Given the description of an element on the screen output the (x, y) to click on. 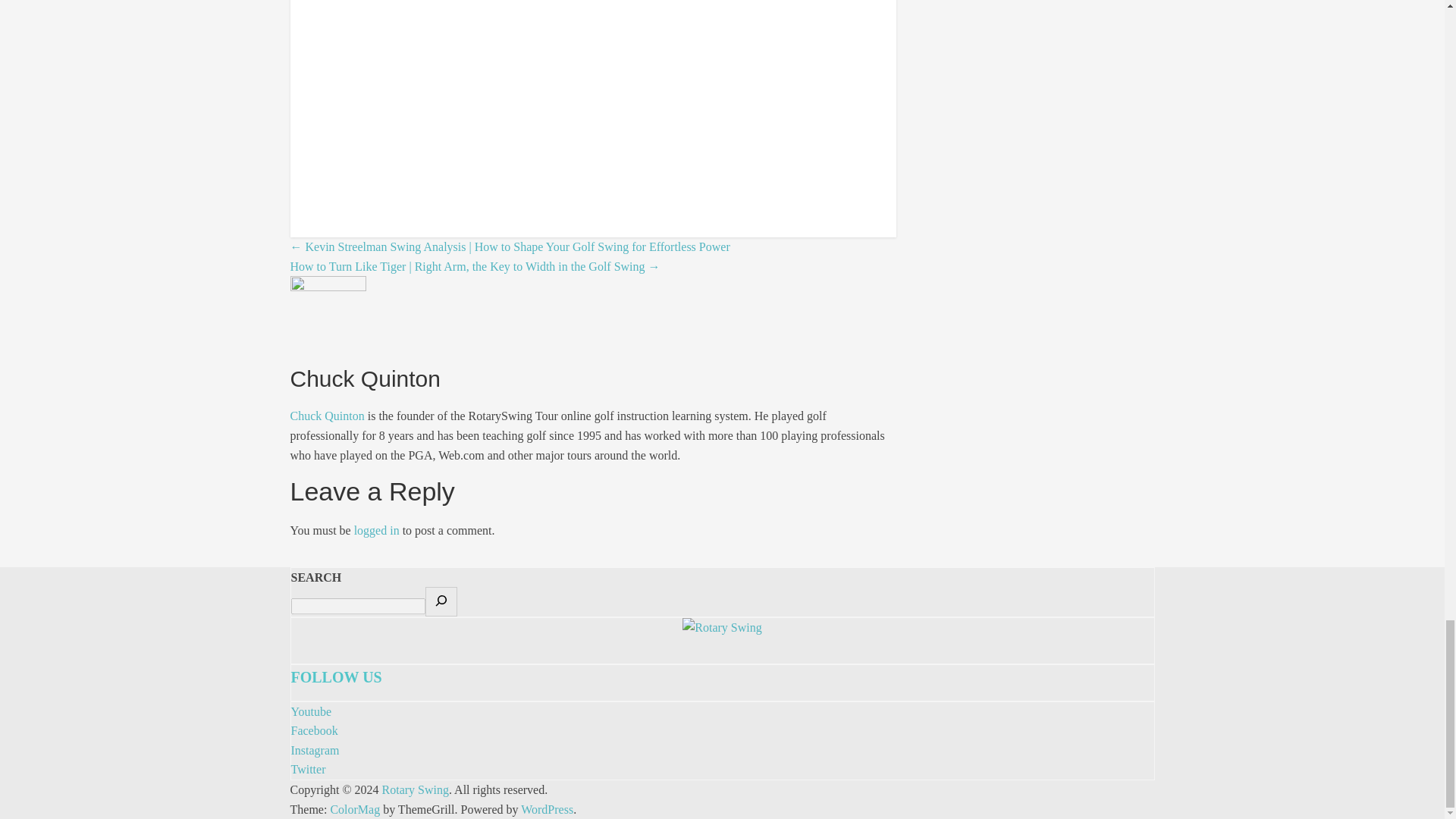
logged in (375, 530)
ColorMag (355, 809)
WordPress (547, 809)
Chuck Quinton (326, 415)
Rotary Swing (414, 789)
